Given the description of an element on the screen output the (x, y) to click on. 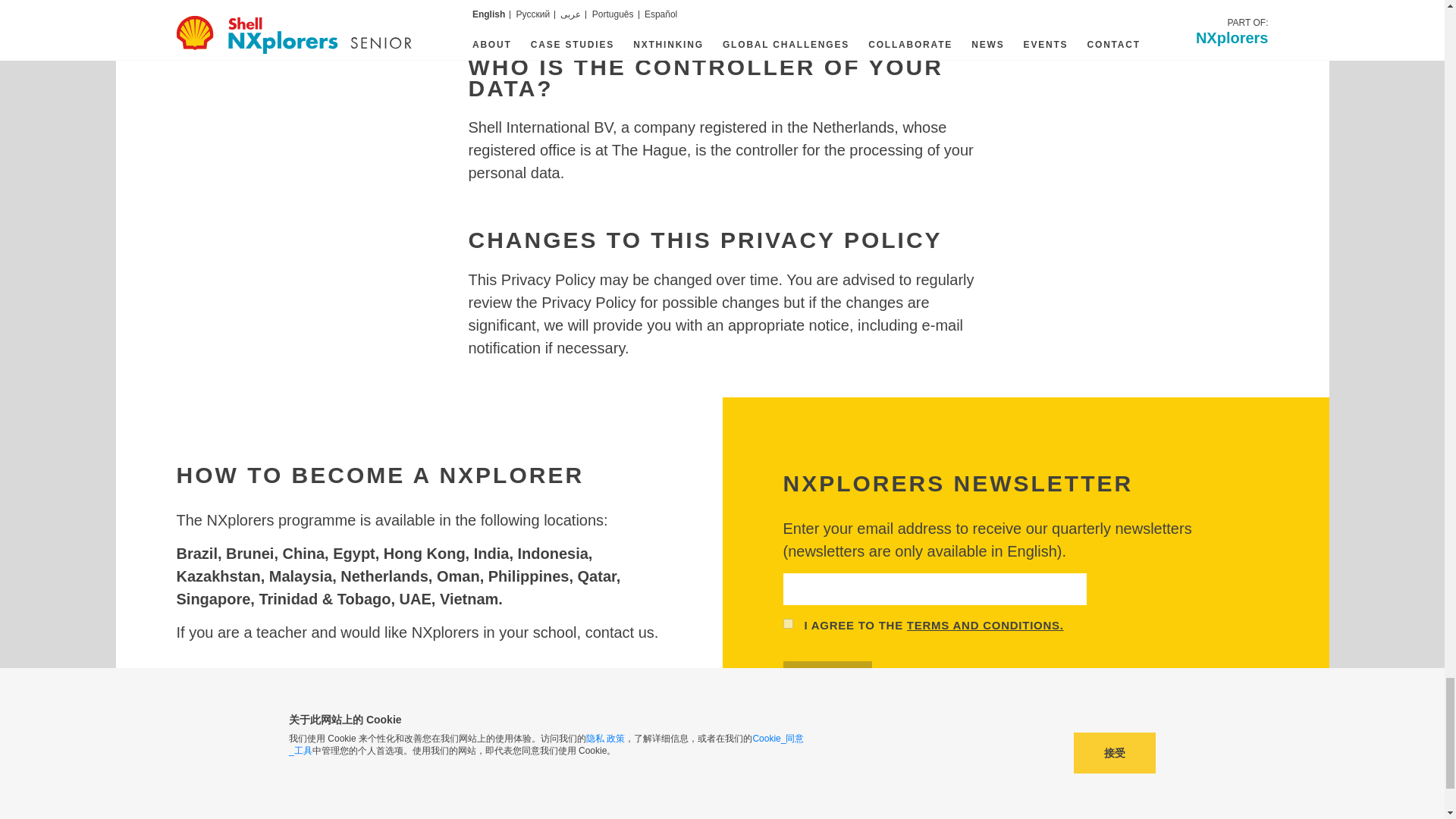
SIGN UP (827, 676)
GET IN TOUCH (236, 693)
TERMS AND CONDITIONS. (985, 625)
on (787, 623)
